Given the description of an element on the screen output the (x, y) to click on. 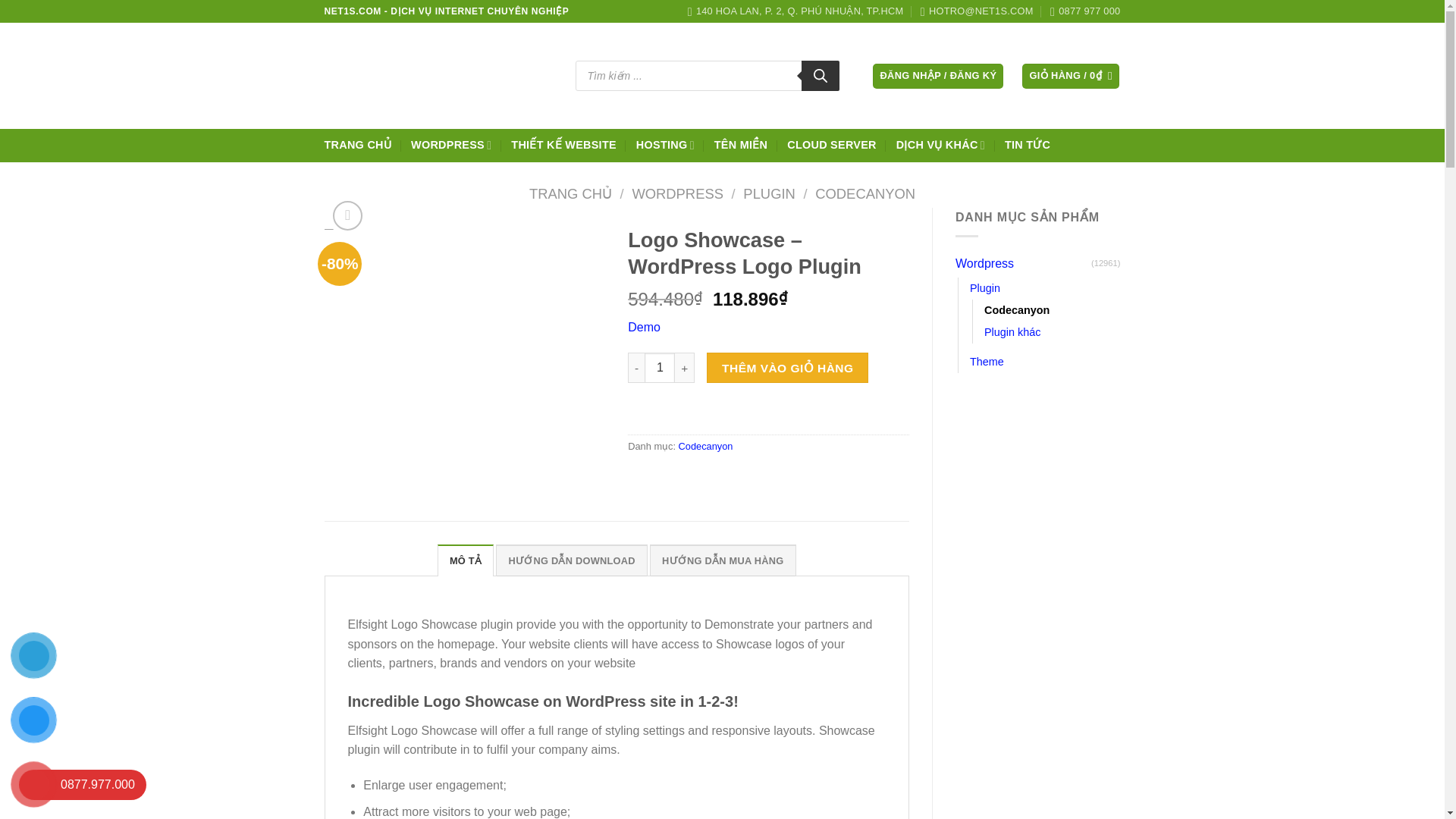
0877 977 000 (1084, 11)
WORDPRESS (451, 144)
WORDPRESS (677, 193)
Plugin (984, 288)
CLOUD SERVER (831, 144)
0877 977 000 (1084, 11)
Wordpress (1022, 263)
Codecanyon (1016, 310)
CODECANYON (865, 193)
1 (660, 367)
